Given the description of an element on the screen output the (x, y) to click on. 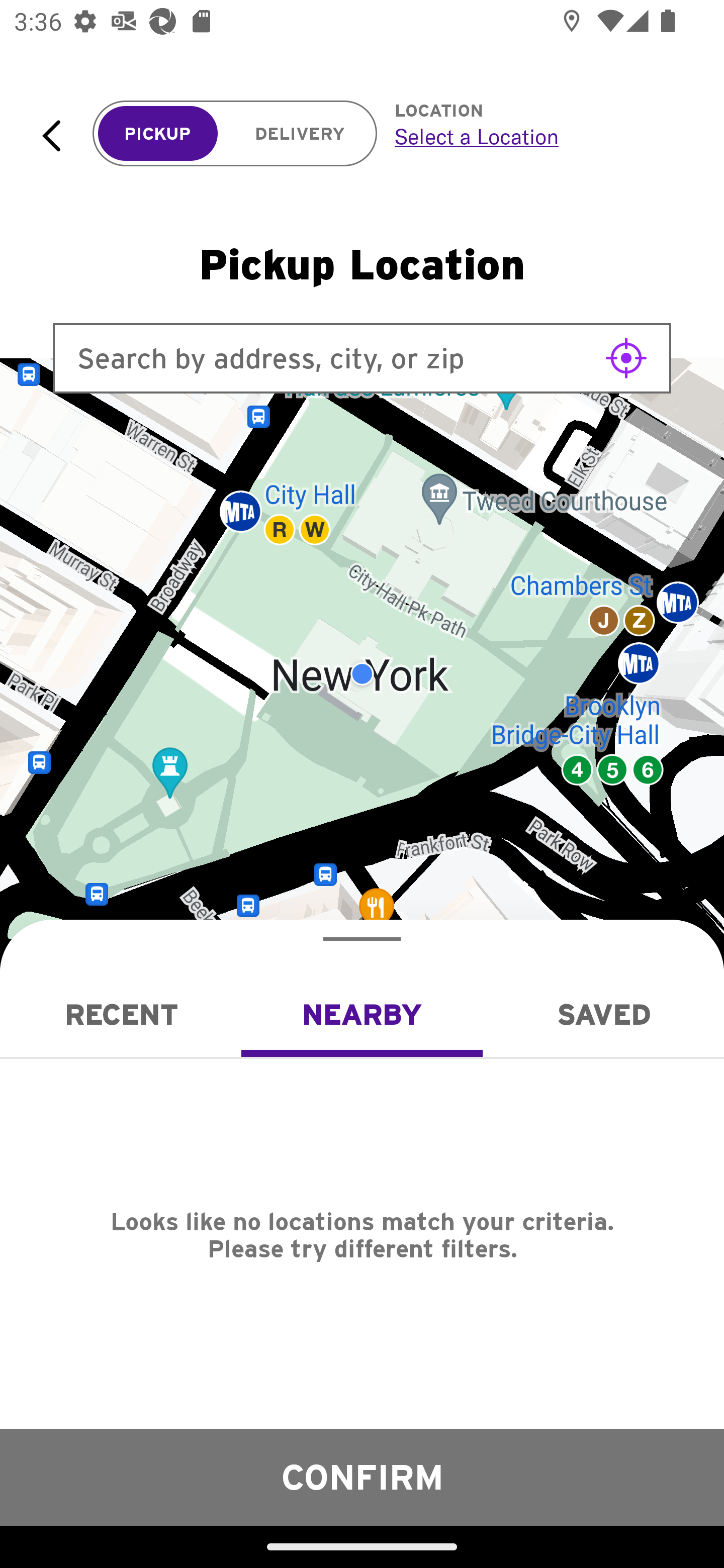
PICKUP (157, 133)
DELIVERY (299, 133)
Select a Location (536, 136)
Search by address, city, or zip (361, 358)
Google Map (362, 674)
Recent RECENT (120, 1014)
Saved SAVED (603, 1014)
CONFIRM (362, 1476)
